Given the description of an element on the screen output the (x, y) to click on. 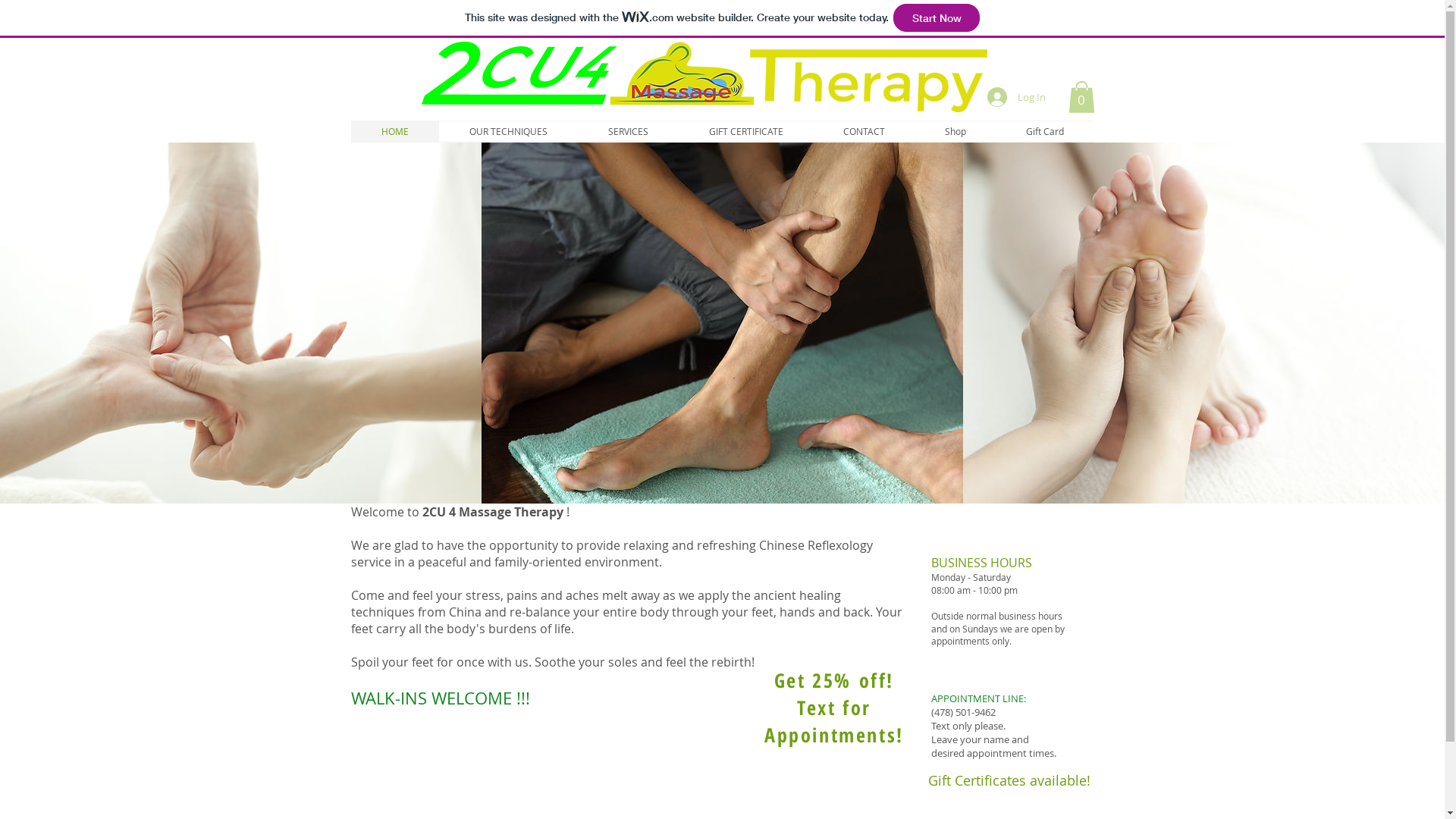
Log In Element type: text (1016, 96)
Gift Card Element type: text (1045, 131)
Shop Element type: text (954, 131)
GIFT CERTIFICATE Element type: text (744, 131)
SERVICES Element type: text (627, 131)
0 Element type: text (1080, 96)
Logo.png Element type: hover (704, 76)
HOME Element type: text (394, 131)
CONTACT Element type: text (863, 131)
OUR TECHNIQUES Element type: text (507, 131)
